Given the description of an element on the screen output the (x, y) to click on. 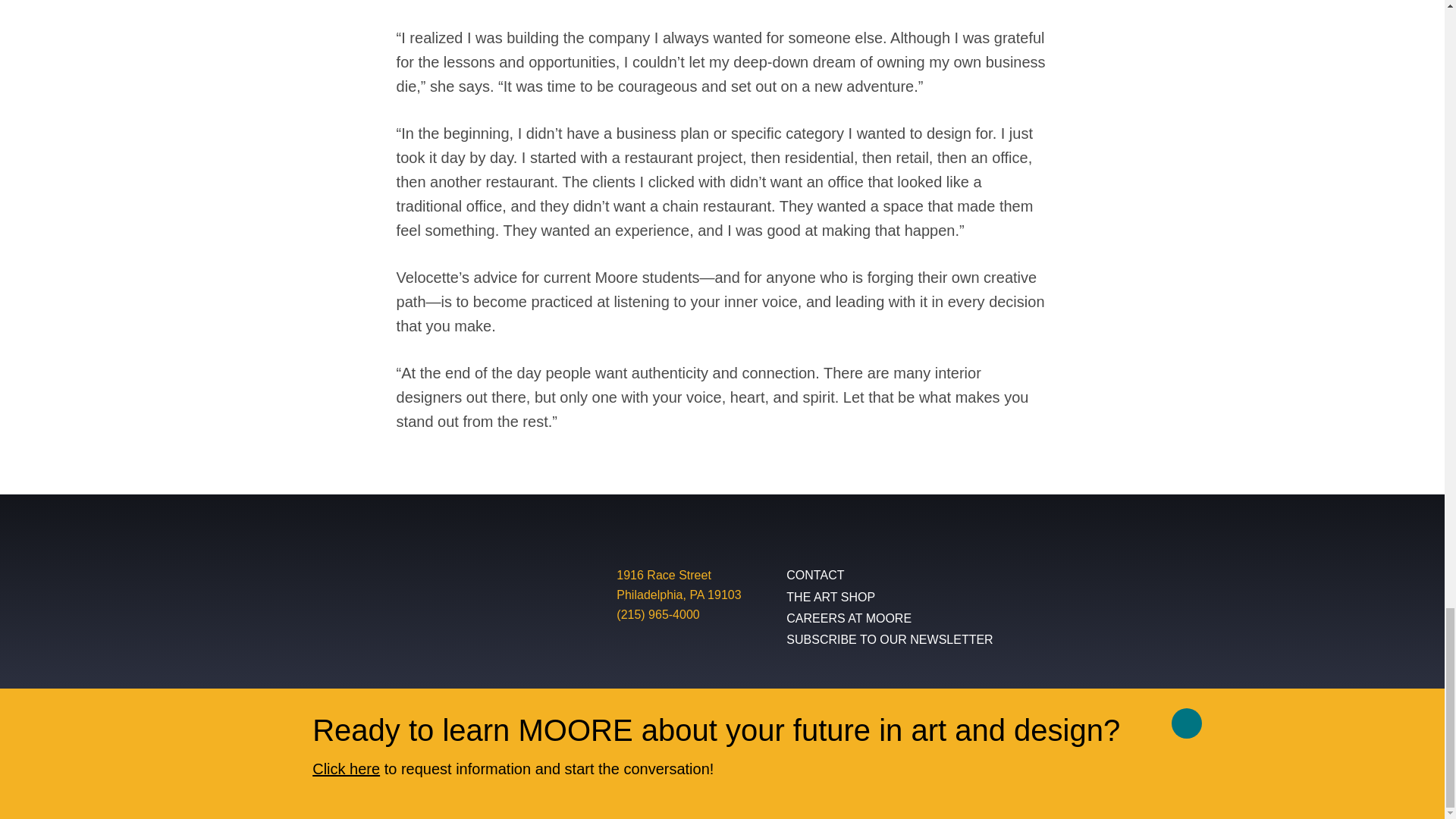
PRIVACY POLICY (268, 763)
Moore College (397, 601)
COPYRIGHT POLICY (577, 763)
CONTACT (889, 575)
NON-DISCRIMINATION POLICY (418, 763)
Instagram (1090, 582)
YouTube (678, 585)
Twitter (1171, 583)
THE ART SHOP (1128, 583)
